Given the description of an element on the screen output the (x, y) to click on. 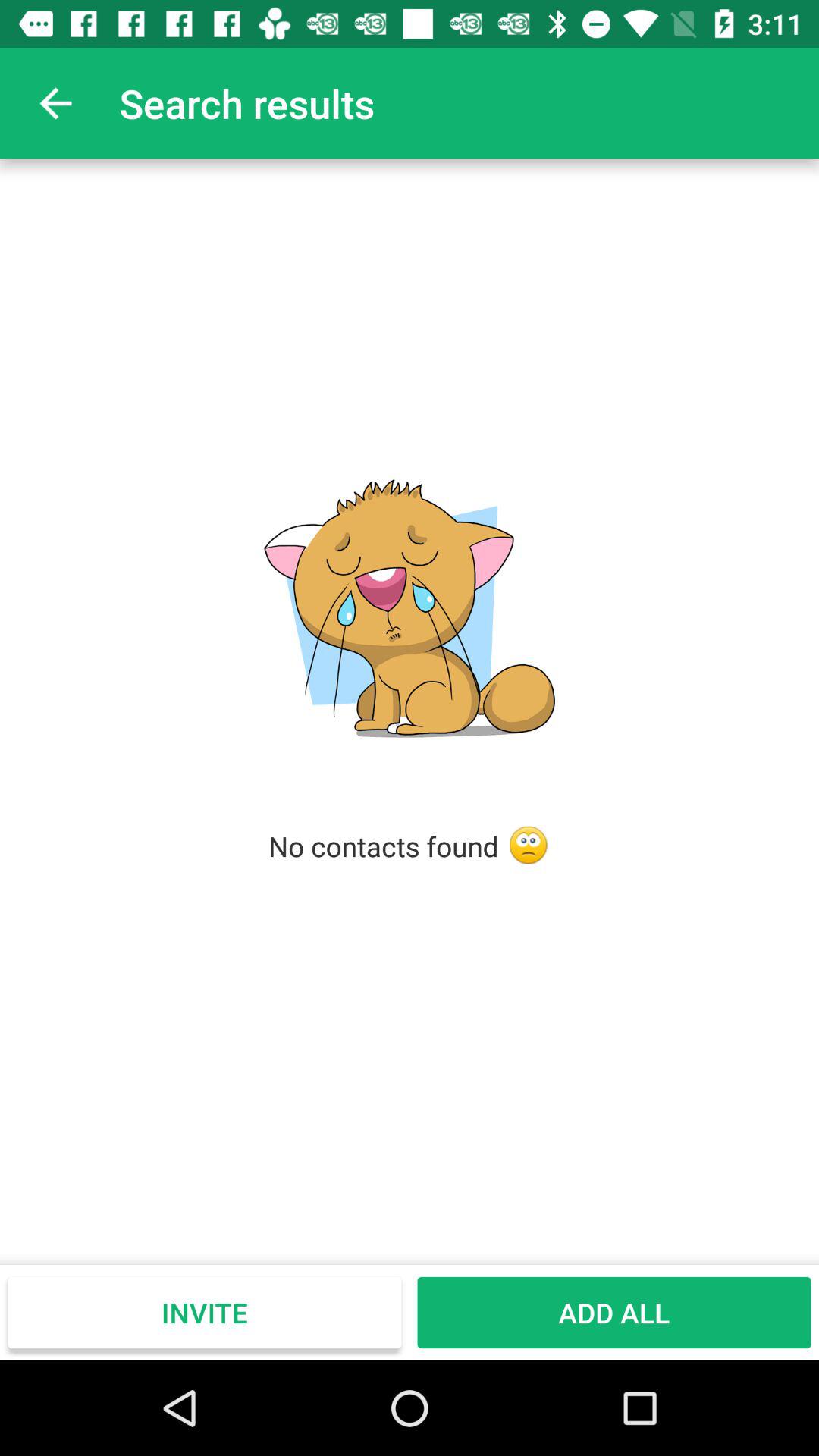
launch add all icon (614, 1312)
